Given the description of an element on the screen output the (x, y) to click on. 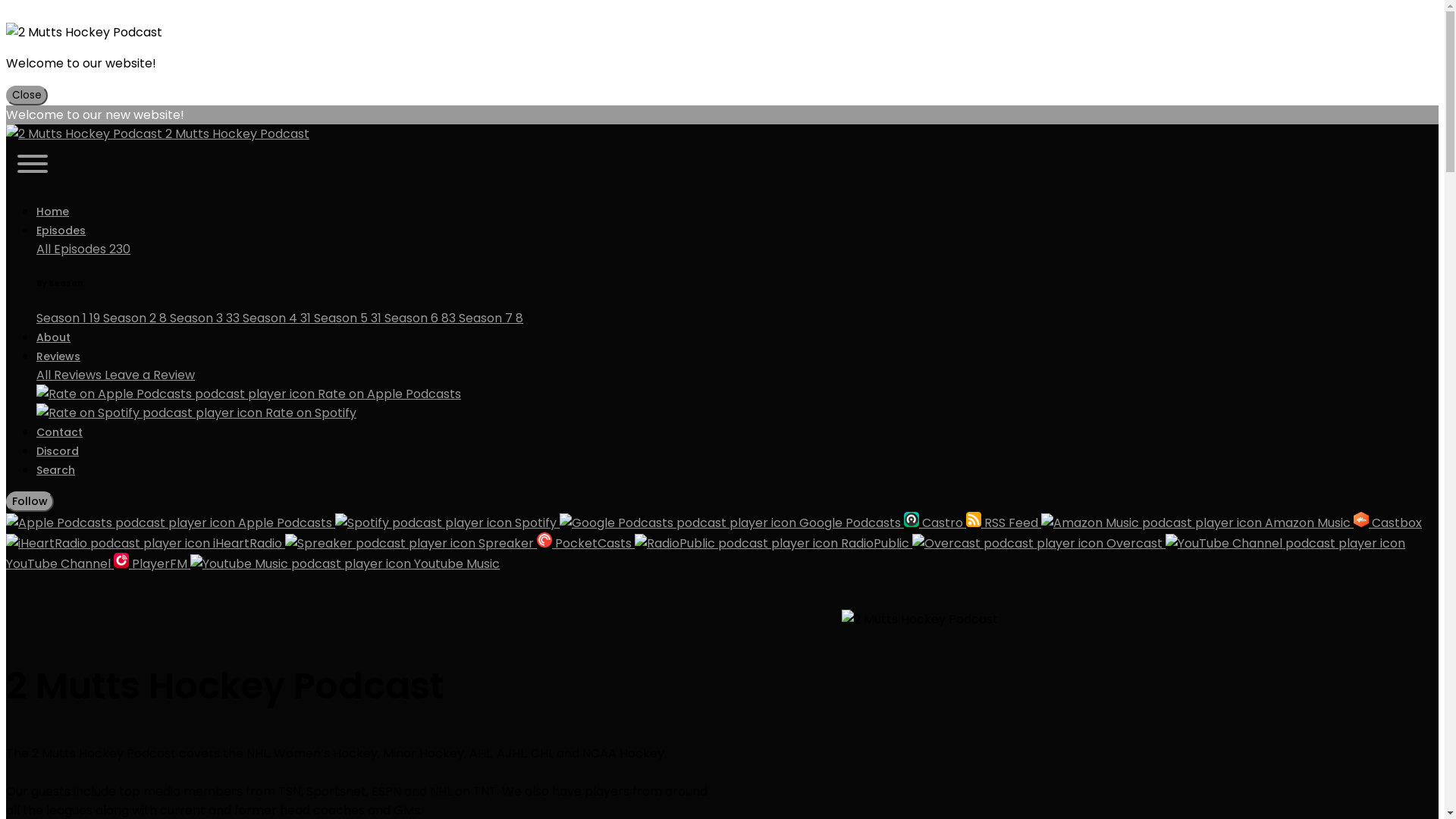
Amazon Music Element type: text (1197, 522)
Season 4 31 Element type: text (277, 317)
Discord Element type: text (57, 450)
2 Mutts Hockey Podcast Element type: hover (84, 133)
All Episodes 230 Element type: text (83, 248)
RSS Feed Element type: text (1003, 522)
Reviews Element type: text (58, 356)
2 Mutts Hockey Podcast Element type: hover (919, 618)
Search Element type: text (55, 469)
Season 2 8 Element type: text (136, 317)
All Reviews Element type: text (70, 374)
Apple Podcasts Element type: text (170, 522)
Rate on Spotify Element type: text (737, 412)
About Element type: text (53, 337)
Season 3 33 Element type: text (205, 317)
PlayerFM Element type: text (151, 563)
Rate on Apple Podcasts Element type: text (737, 402)
Youtube Music Element type: text (344, 563)
iHeartRadio Element type: text (145, 543)
Season 7 8 Element type: text (490, 317)
Follow Element type: text (29, 501)
2 Mutts Hockey Podcast Element type: text (722, 133)
2 Mutts Hockey Podcast Element type: hover (84, 31)
RadioPublic Element type: text (773, 543)
Home Element type: text (52, 211)
Contact Element type: text (59, 431)
Season 6 83 Element type: text (421, 317)
Leave a Review Element type: text (149, 374)
Season 5 31 Element type: text (348, 317)
Spreaker Element type: text (410, 543)
Google Podcasts Element type: text (731, 522)
Close Element type: text (26, 95)
Episodes Element type: text (60, 230)
Castro Element type: text (934, 522)
Overcast Element type: text (1038, 543)
PocketCasts Element type: text (585, 543)
Season 1 19 Element type: text (69, 317)
Spotify Element type: text (447, 522)
YouTube Channel Element type: text (705, 553)
Castbox Element type: text (1387, 522)
